Given the description of an element on the screen output the (x, y) to click on. 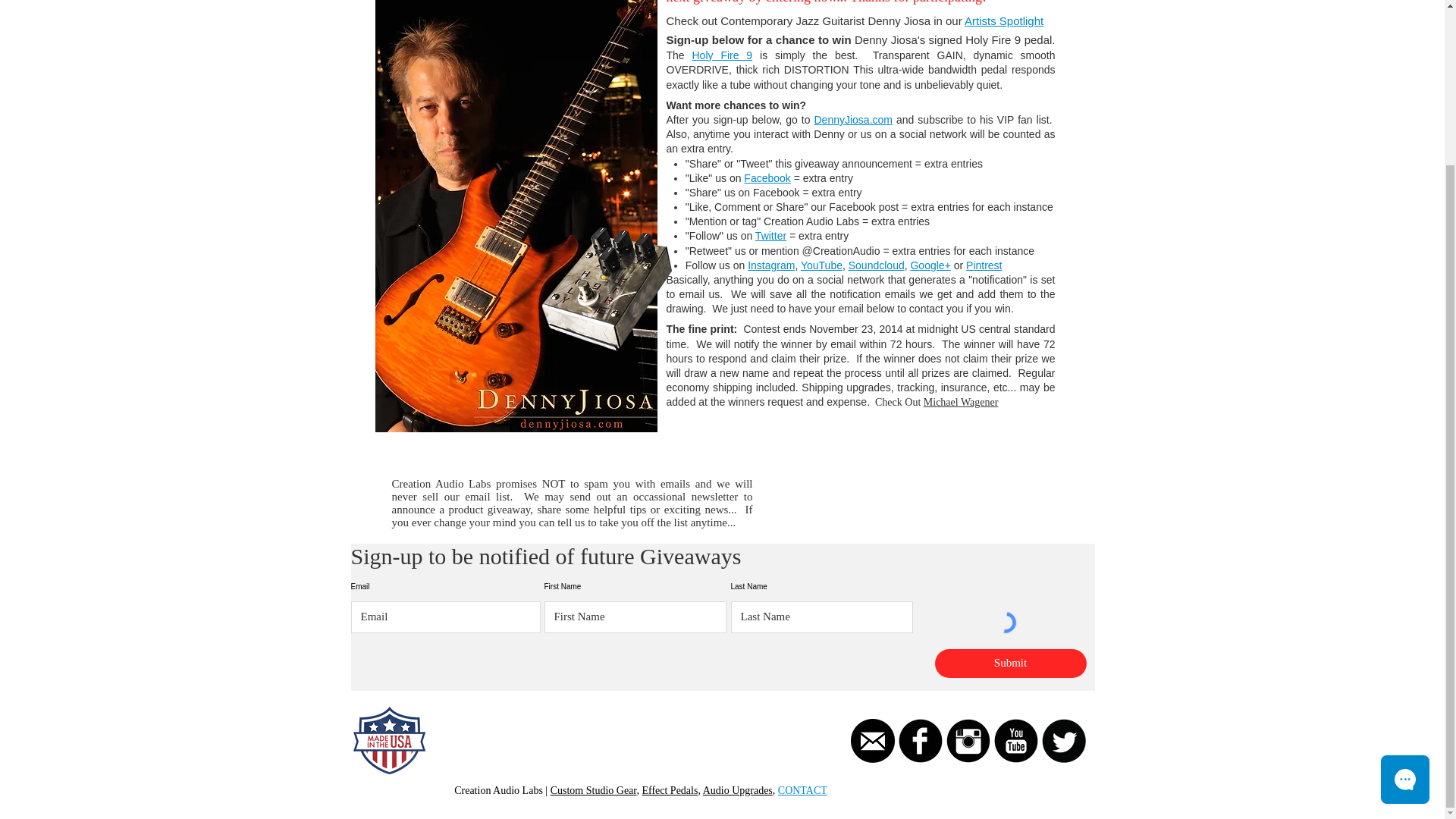
Instagram (771, 265)
Holy Fire 9 (721, 55)
Made in the USA (389, 739)
Artists Spotlight (1003, 20)
Pintrest (983, 265)
Twitter Follow (528, 767)
YouTube (821, 265)
Facebook (767, 177)
Facebook Like (473, 767)
Soundcloud (876, 265)
Twitter (770, 235)
DennyJiosa.com (853, 119)
